Given the description of an element on the screen output the (x, y) to click on. 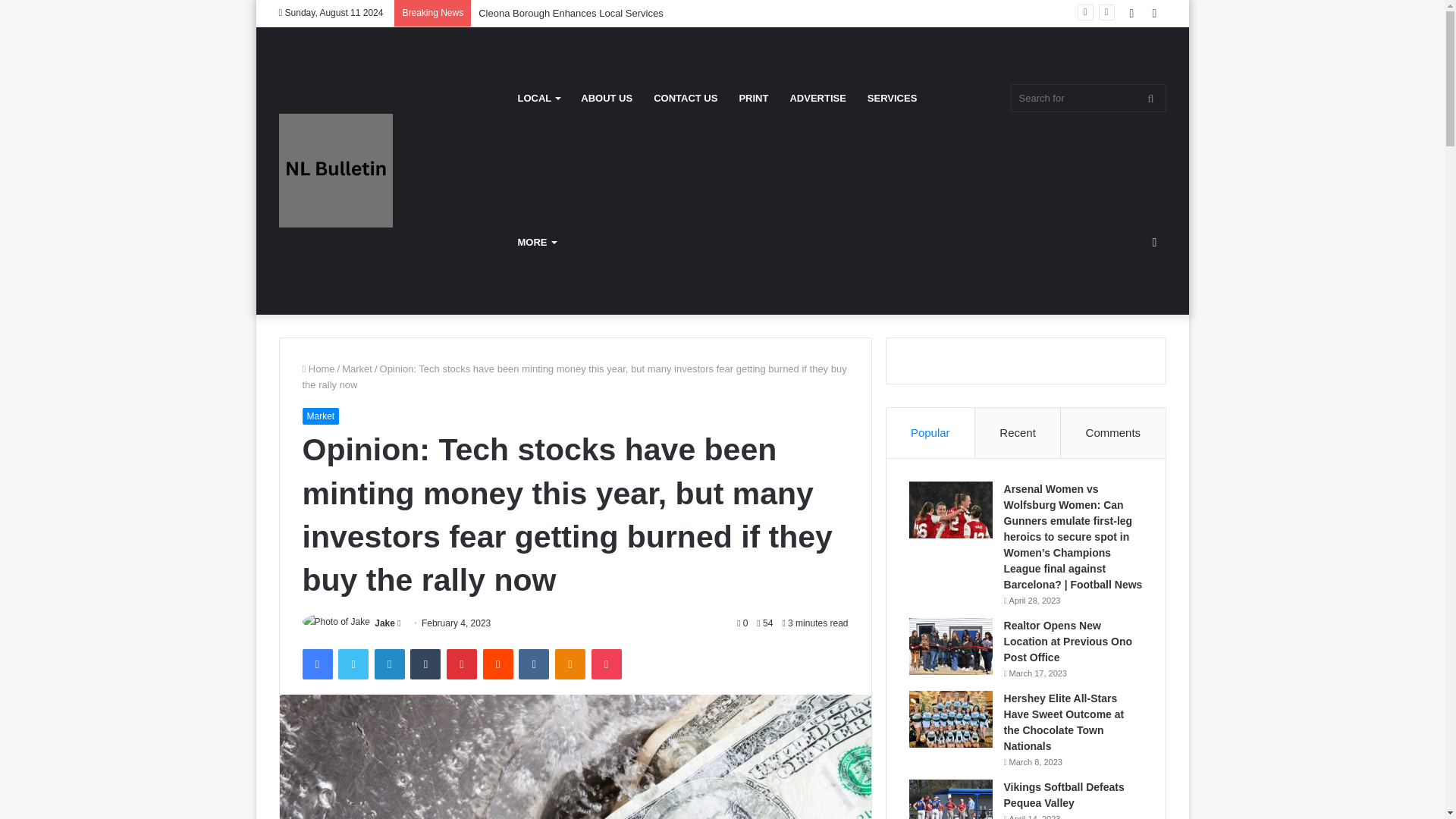
Reddit (498, 664)
NLB Northern Lebanon Bulletin (336, 170)
Pinterest (461, 664)
Facebook (316, 664)
Twitter (352, 664)
Tumblr (425, 664)
LinkedIn (389, 664)
Cleona Borough Enhances Local Services (571, 12)
VKontakte (533, 664)
Search for (1088, 98)
